Given the description of an element on the screen output the (x, y) to click on. 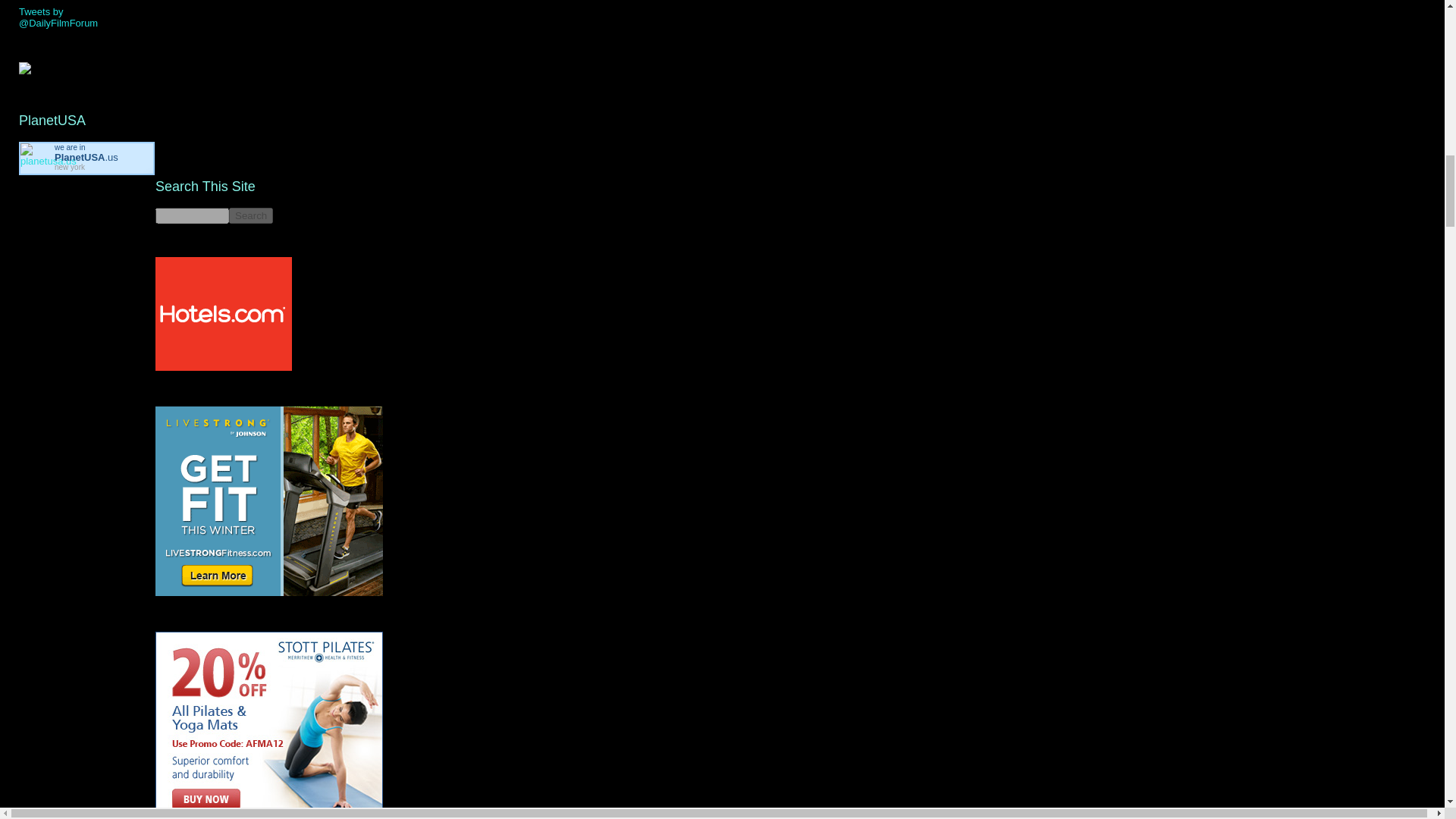
search (191, 215)
new york (69, 166)
new york (69, 166)
promote blog at buzzerhut.com (24, 70)
search (250, 215)
Search (250, 215)
PlanetUSA.us (86, 156)
Search (250, 215)
Search (250, 215)
new york (86, 156)
